Given the description of an element on the screen output the (x, y) to click on. 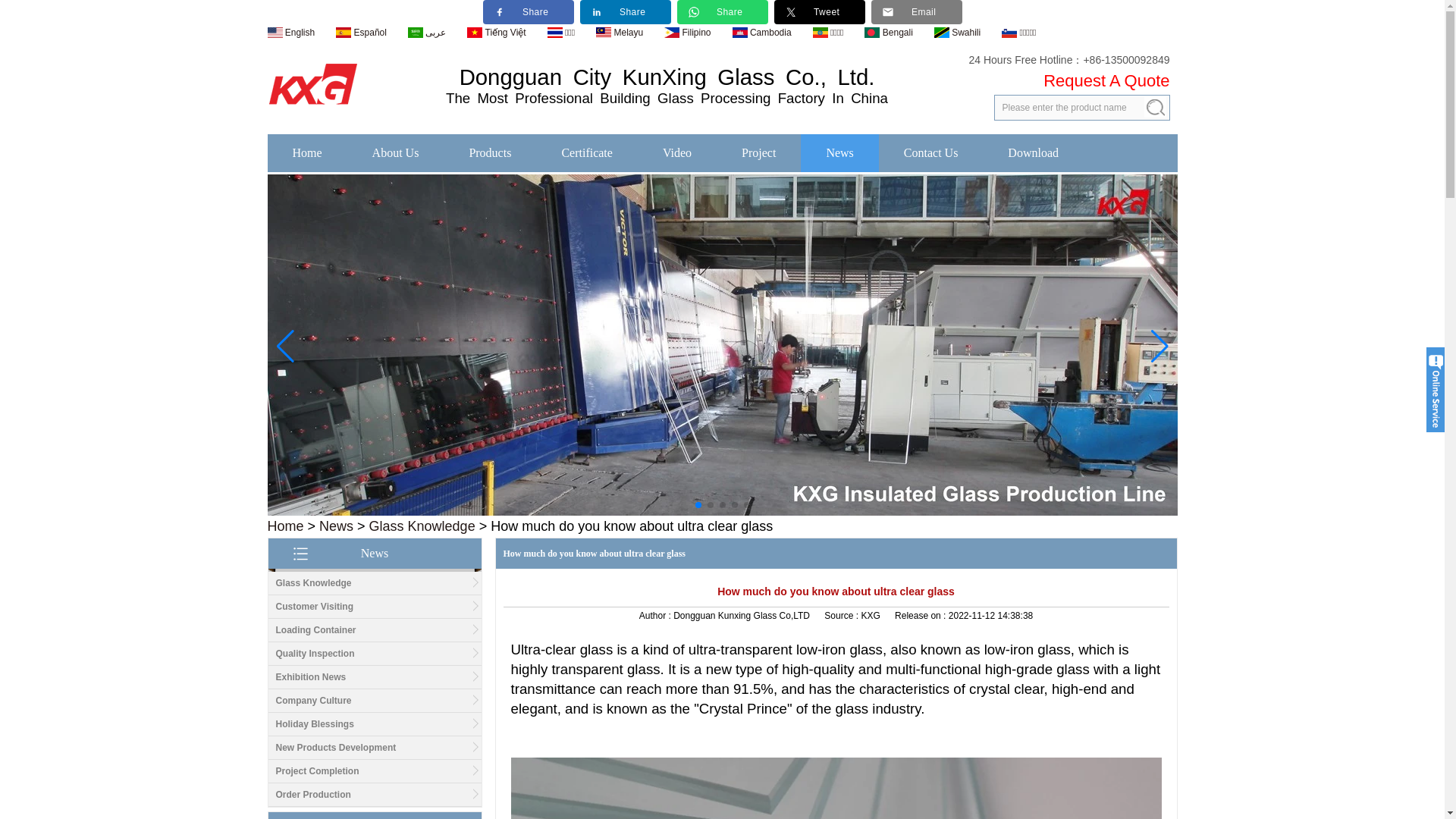
Search (1154, 107)
Video (676, 152)
Cambodia (762, 31)
Project (758, 152)
Glass Knowledge (314, 583)
Glass Knowledge (422, 525)
Filipino (686, 31)
News (335, 525)
Products (489, 152)
Please enter the product name (1080, 107)
China Glass Knowledge manufacturer (314, 583)
Home (284, 525)
Certificate (586, 152)
Contact Us (931, 152)
DONGGUAN KUNXING GLASS CO.,LTD (312, 81)
